Given the description of an element on the screen output the (x, y) to click on. 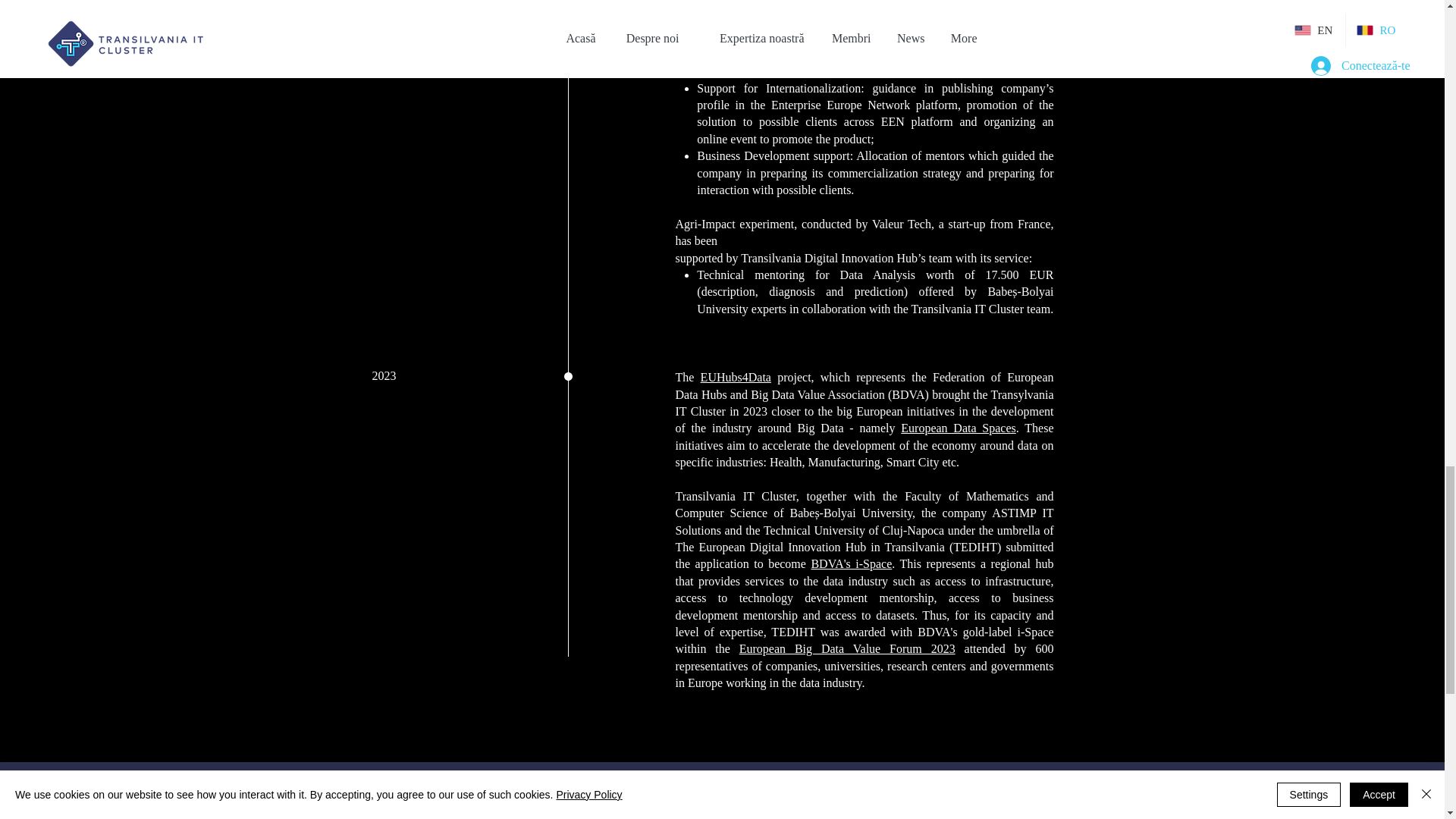
EUHubs4Data (735, 377)
European Big Data Value Forum 2023 (847, 648)
European Data Spaces (958, 427)
BDVA's i-Space (850, 563)
